Given the description of an element on the screen output the (x, y) to click on. 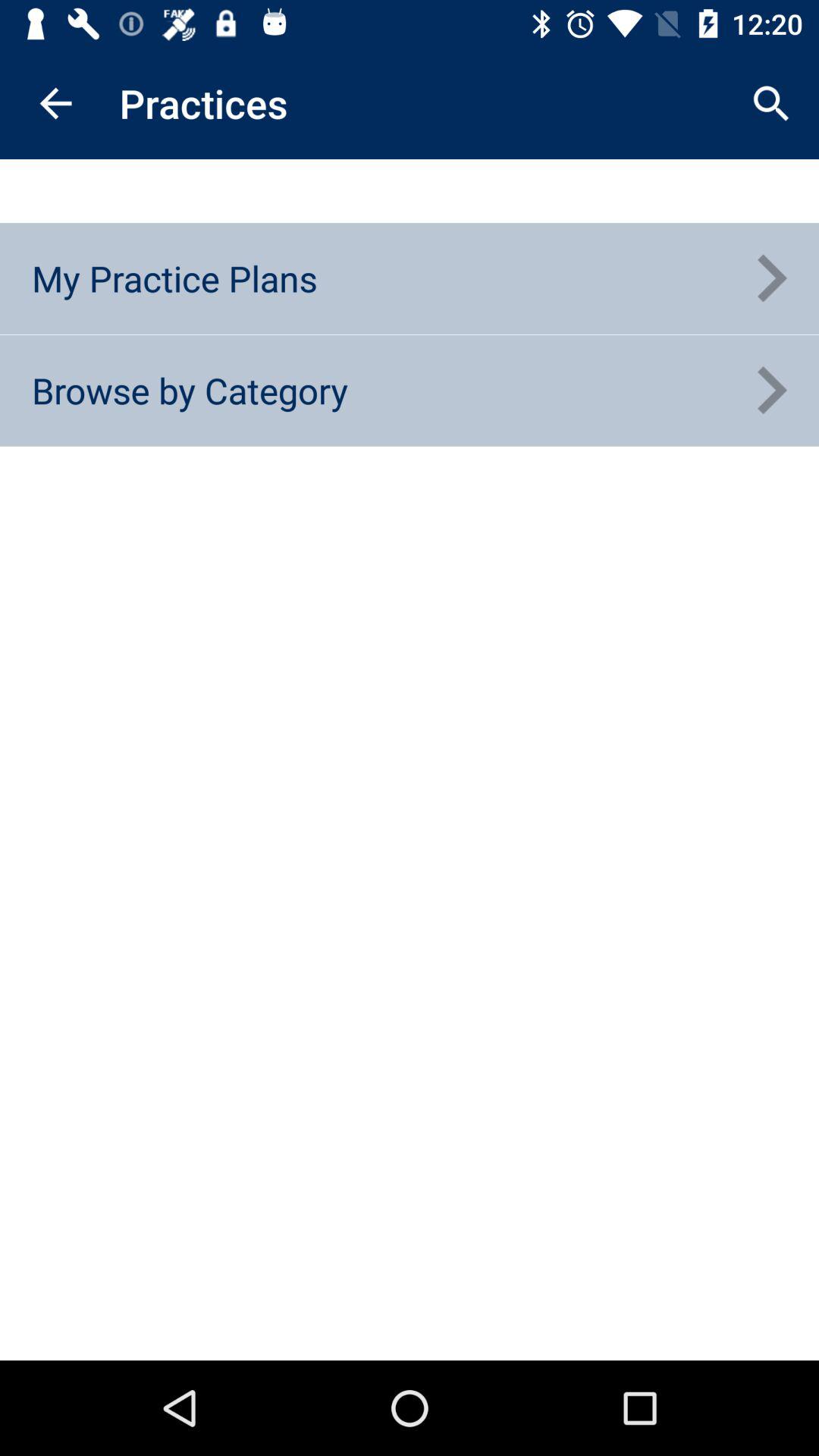
turn on the item to the left of the practices item (55, 103)
